Given the description of an element on the screen output the (x, y) to click on. 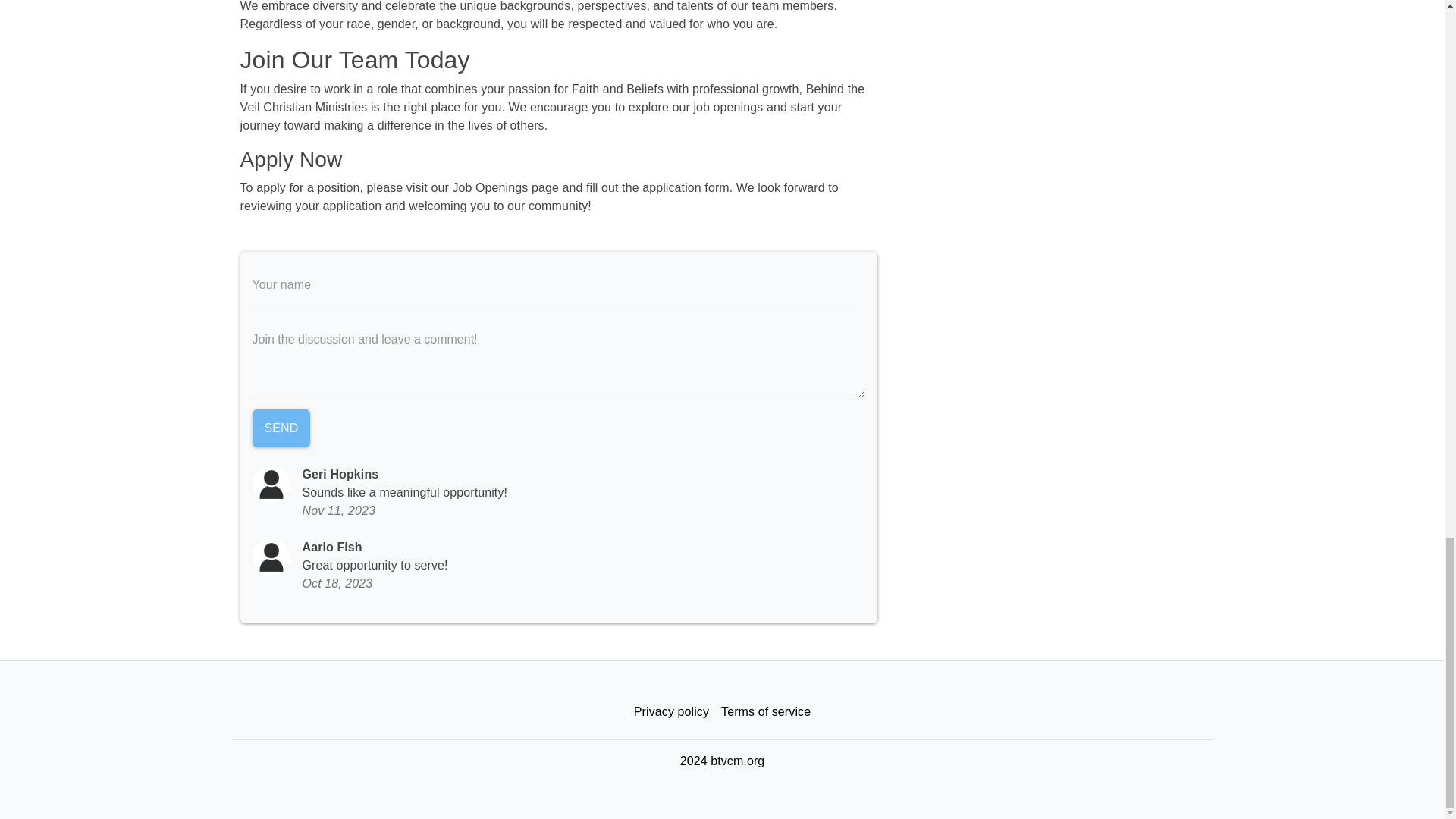
Privacy policy (670, 711)
Send (280, 428)
Terms of service (765, 711)
Send (280, 428)
